Given the description of an element on the screen output the (x, y) to click on. 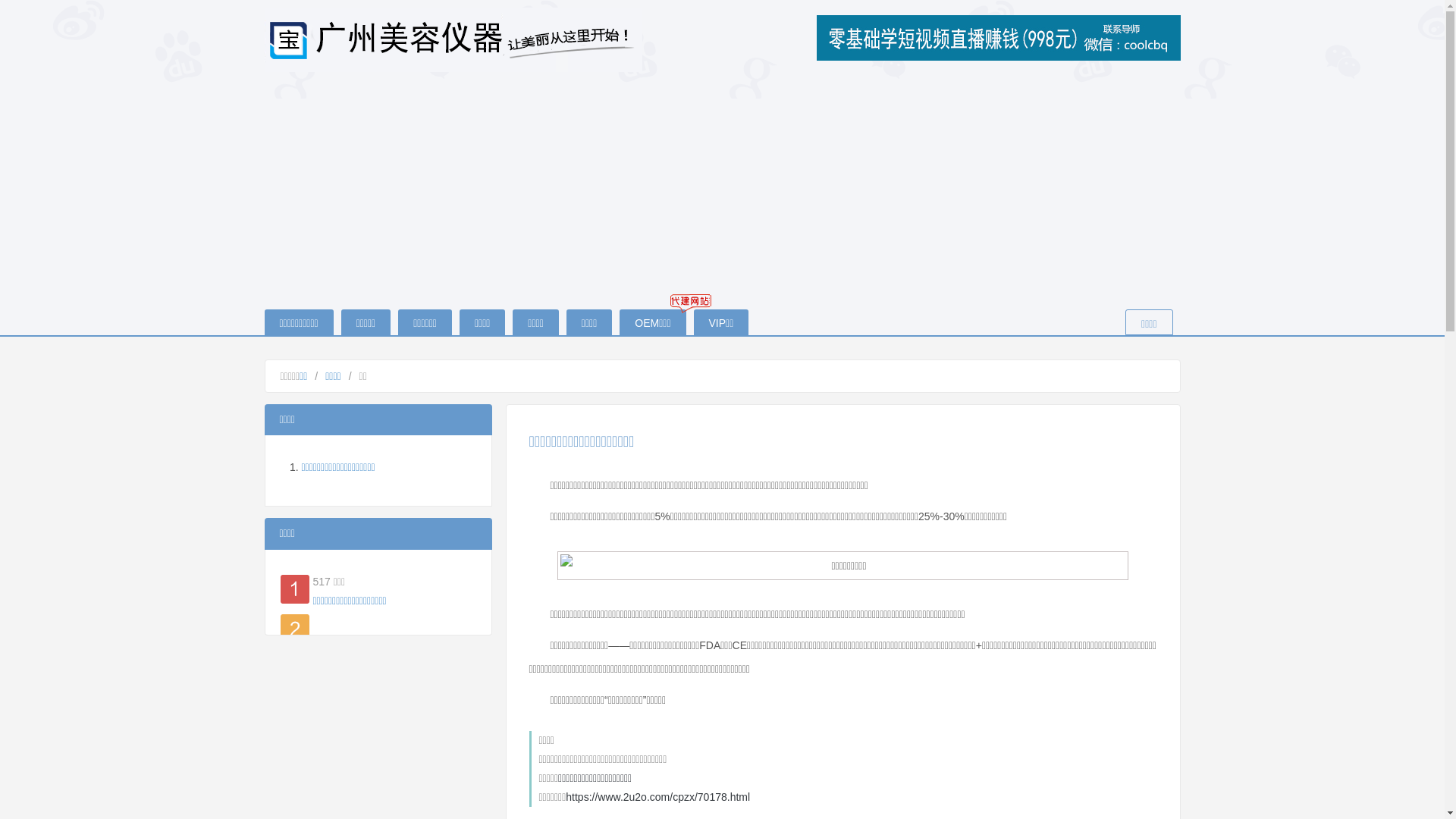
https://www.2u2o.com/cpzx/70178.html Element type: text (657, 796)
